Given the description of an element on the screen output the (x, y) to click on. 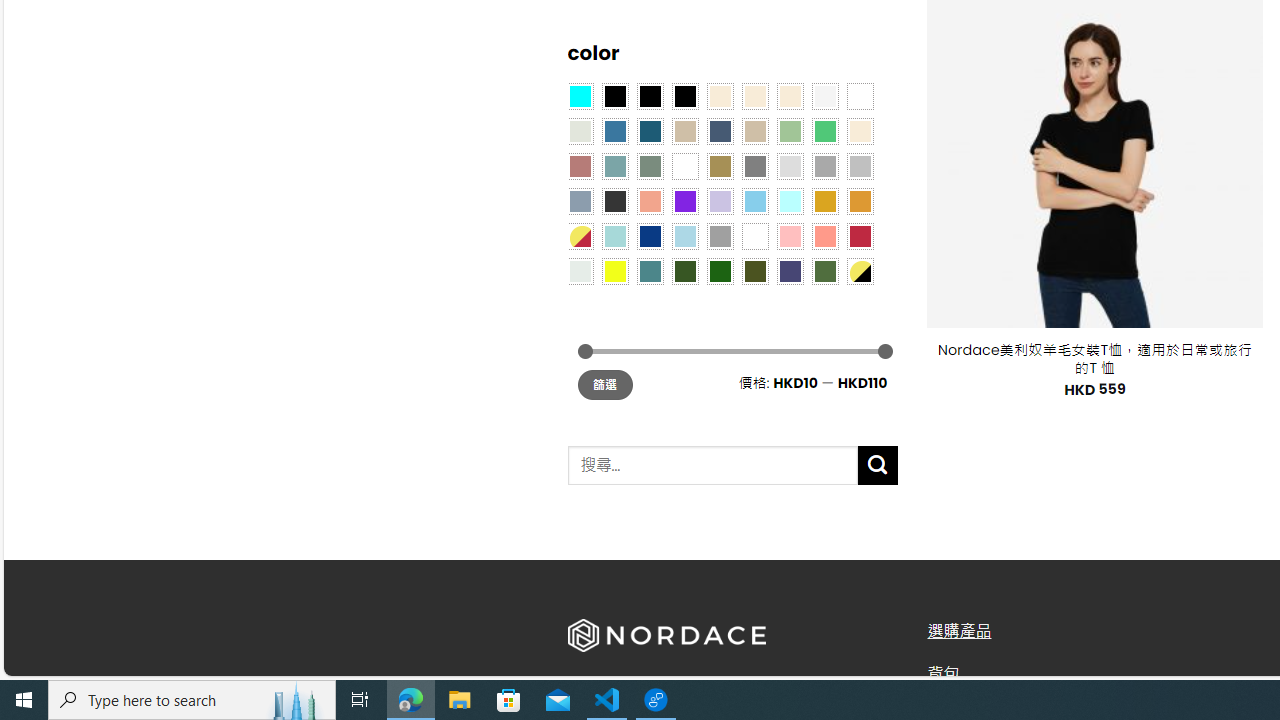
Cream (789, 95)
